Given the description of an element on the screen output the (x, y) to click on. 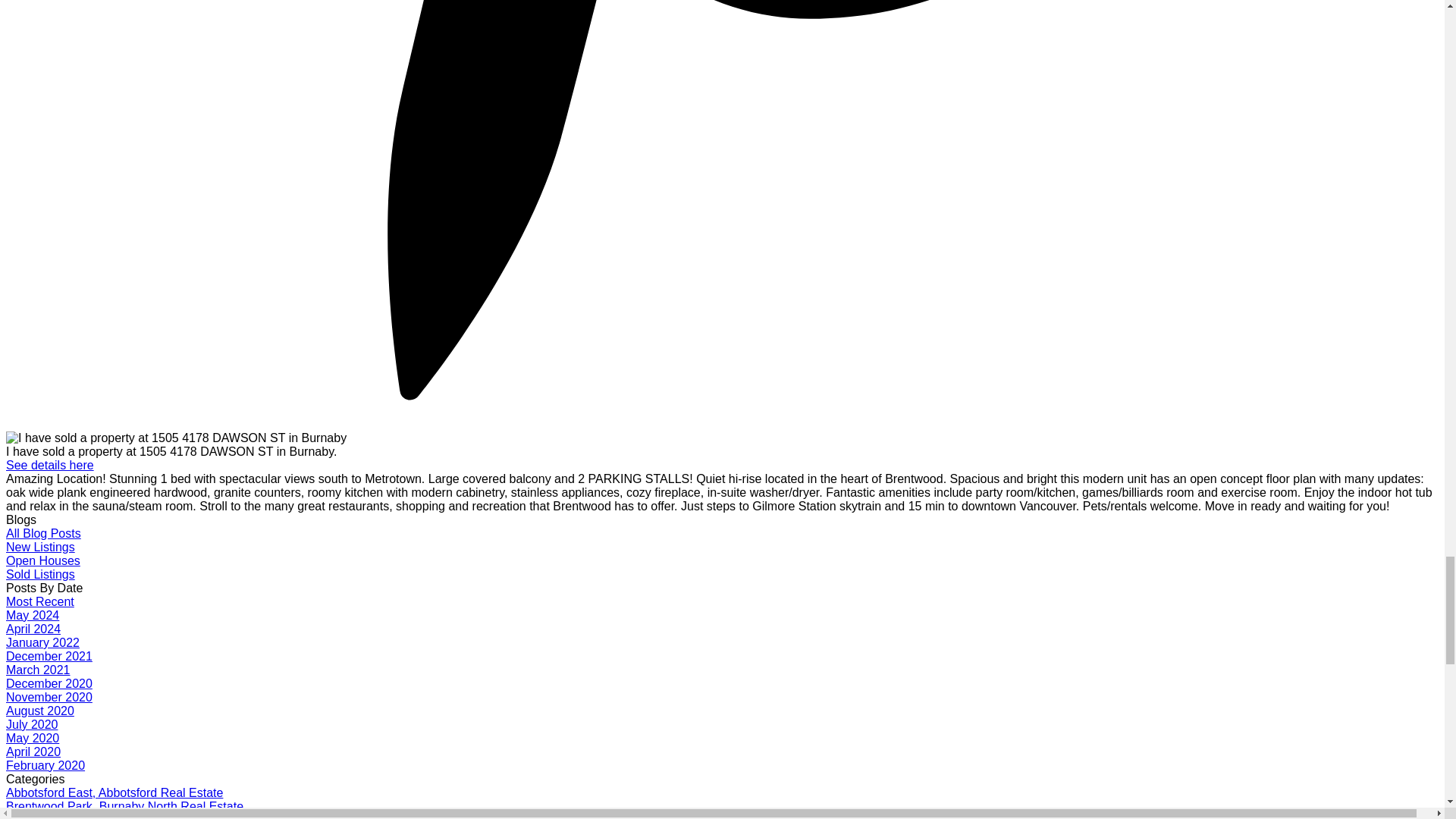
All Blog Posts (43, 533)
January 2022 (42, 642)
November 2020 (49, 697)
December 2020 (49, 683)
February 2020 (44, 765)
Open Houses (42, 560)
April 2024 (33, 628)
See details here (49, 464)
May 2024 (32, 615)
April 2020 (33, 751)
